Given the description of an element on the screen output the (x, y) to click on. 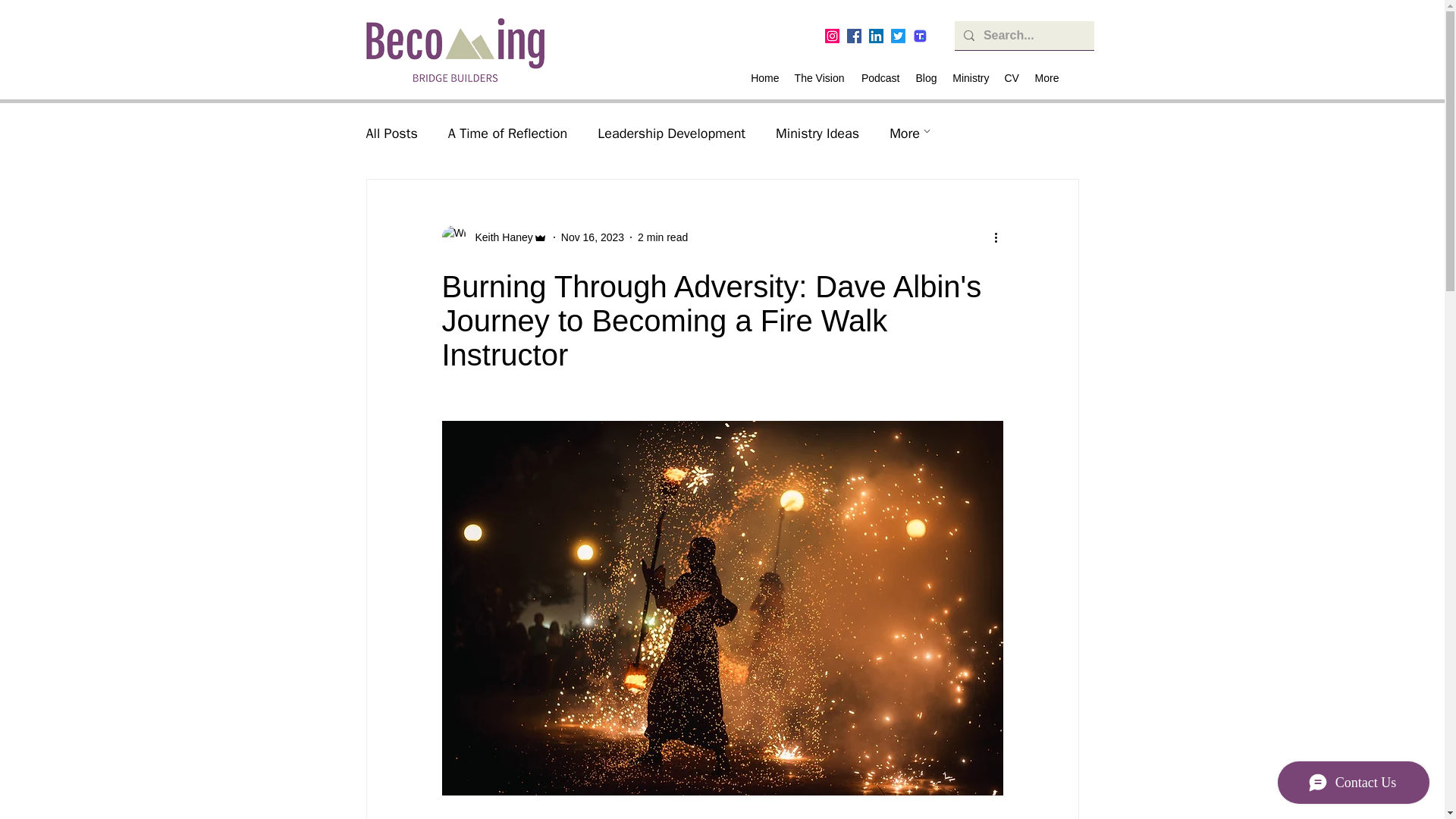
Home (764, 77)
Ministry Ideas (817, 133)
The Vision (819, 77)
2 min read (662, 236)
Podcast (879, 77)
Keith Haney (498, 236)
A Time of Reflection (507, 133)
Ministry (970, 77)
Leadership Development (670, 133)
Nov 16, 2023 (592, 236)
All Posts (390, 133)
CV (1010, 77)
Blog (925, 77)
